Given the description of an element on the screen output the (x, y) to click on. 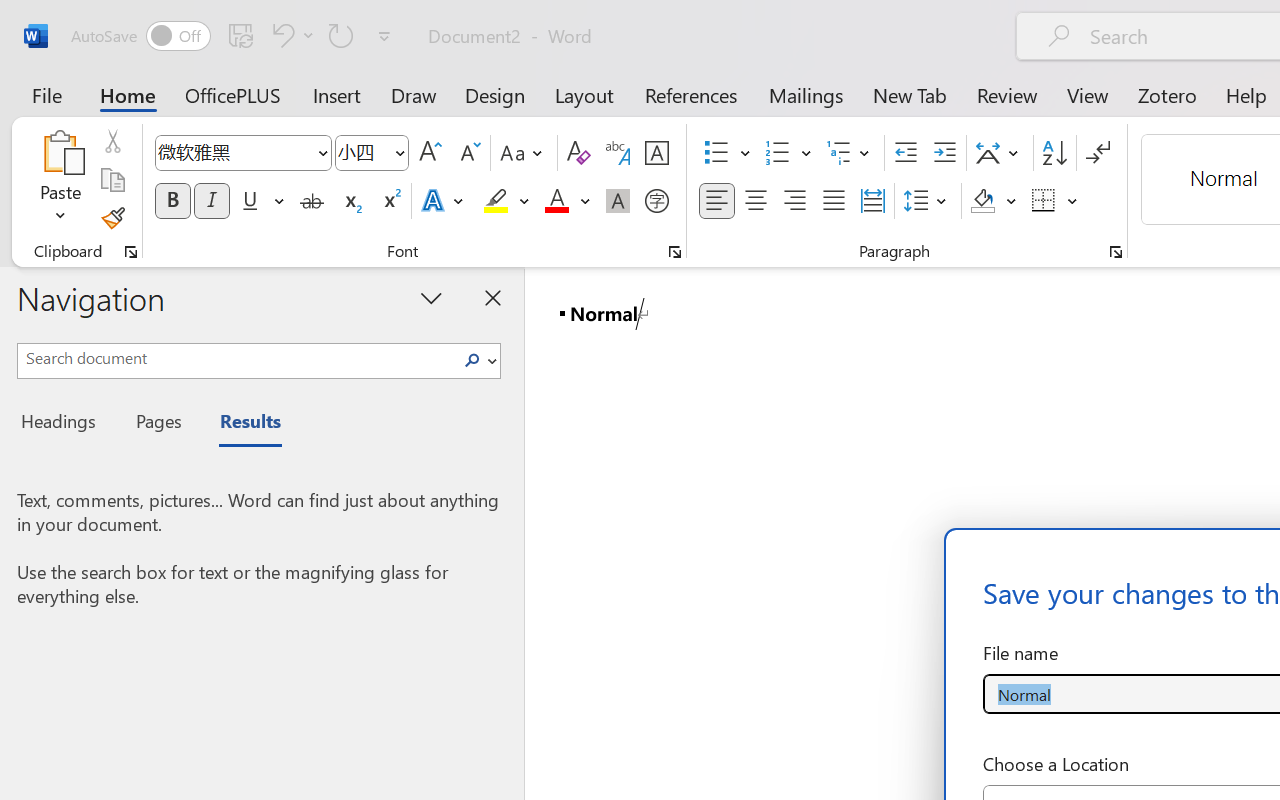
Review (1007, 94)
File Tab (46, 94)
Numbering (788, 153)
Font Size (372, 153)
Headings (64, 424)
Can't Repeat (341, 35)
Bullets (716, 153)
New Tab (909, 94)
Task Pane Options (431, 297)
View (1087, 94)
Underline (250, 201)
Cut (112, 141)
OfficePLUS (233, 94)
Font (234, 152)
Bold (172, 201)
